Given the description of an element on the screen output the (x, y) to click on. 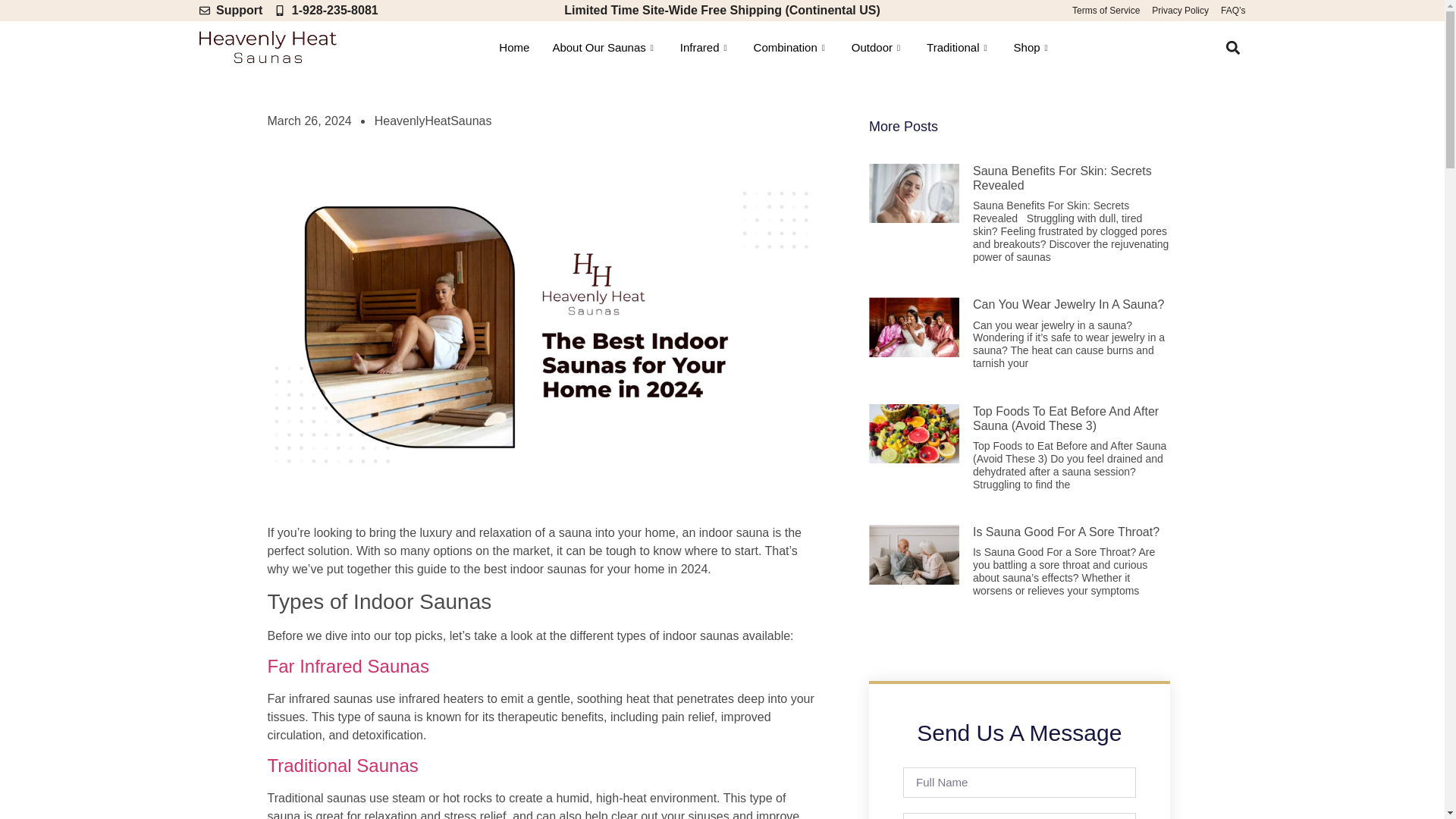
Privacy Policy (1179, 10)
About Our Saunas (604, 47)
Home (513, 47)
Support (230, 10)
Terms of Service (1105, 10)
1-928-235-8081 (326, 10)
Infrared (705, 47)
Combination (791, 47)
